Given the description of an element on the screen output the (x, y) to click on. 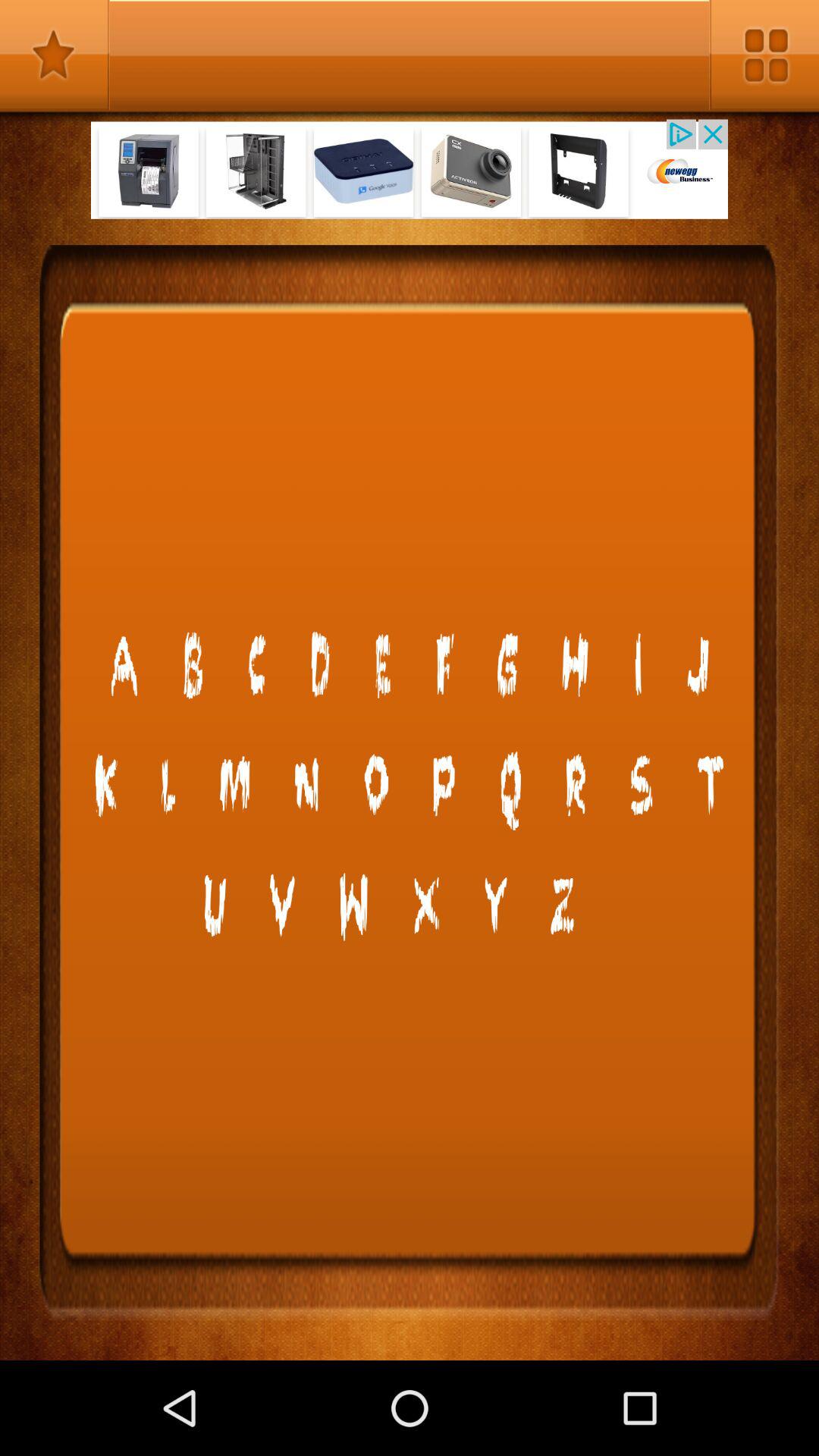
open advertisement (409, 168)
